Given the description of an element on the screen output the (x, y) to click on. 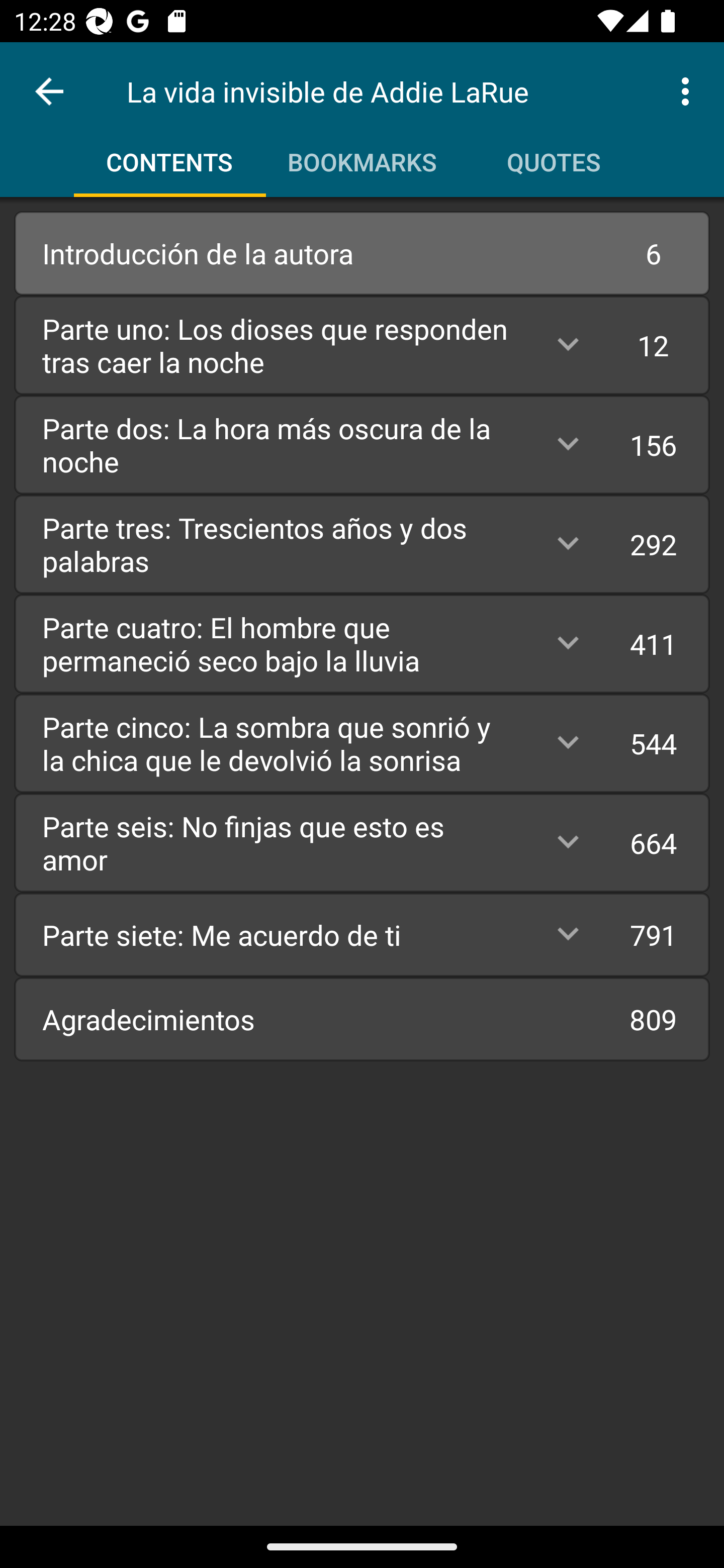
Back (49, 91)
More options (688, 90)
Bookmarks BOOKMARKS (361, 154)
Quotes QUOTES (554, 154)
Introducción de la autora 6 (361, 252)
Parte dos: La hora más oscura de la noche 156 (361, 444)
Parte tres: Trescientos años y dos palabras 292 (361, 543)
Parte seis: No finjas que esto es amor 664 (361, 842)
Parte siete: Me acuerdo de ti 791 (361, 934)
Agradecimientos 809 (361, 1018)
